Given the description of an element on the screen output the (x, y) to click on. 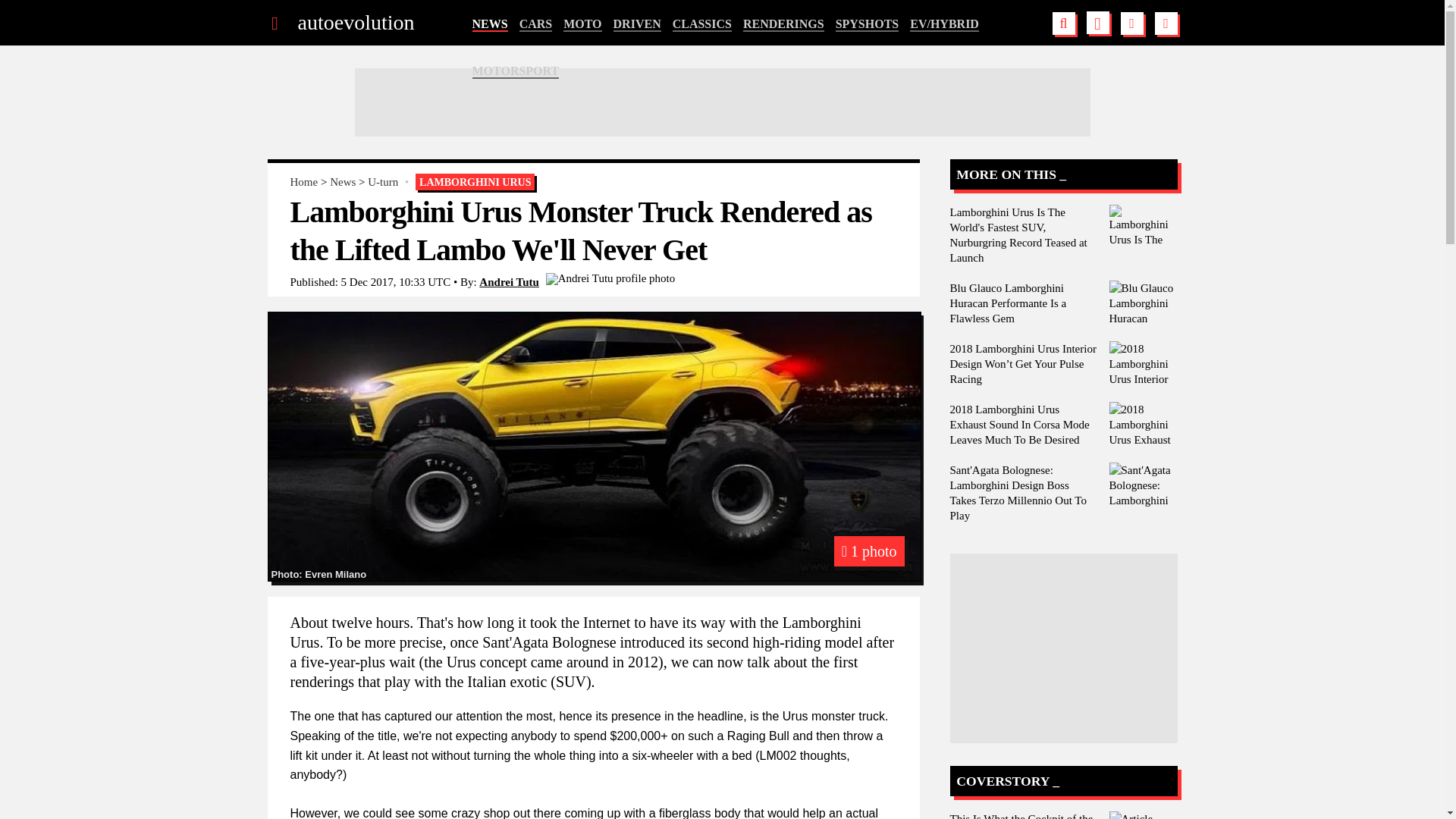
SPYSHOTS (867, 24)
U-turn (382, 182)
RENDERINGS (783, 24)
DRIVEN (636, 24)
CARS (536, 24)
News (342, 182)
CLASSICS (702, 24)
autoevolution (355, 22)
autoevolution (355, 22)
NEWS (488, 24)
MOTO (582, 24)
Home (303, 182)
MOTORSPORT (515, 71)
